Given the description of an element on the screen output the (x, y) to click on. 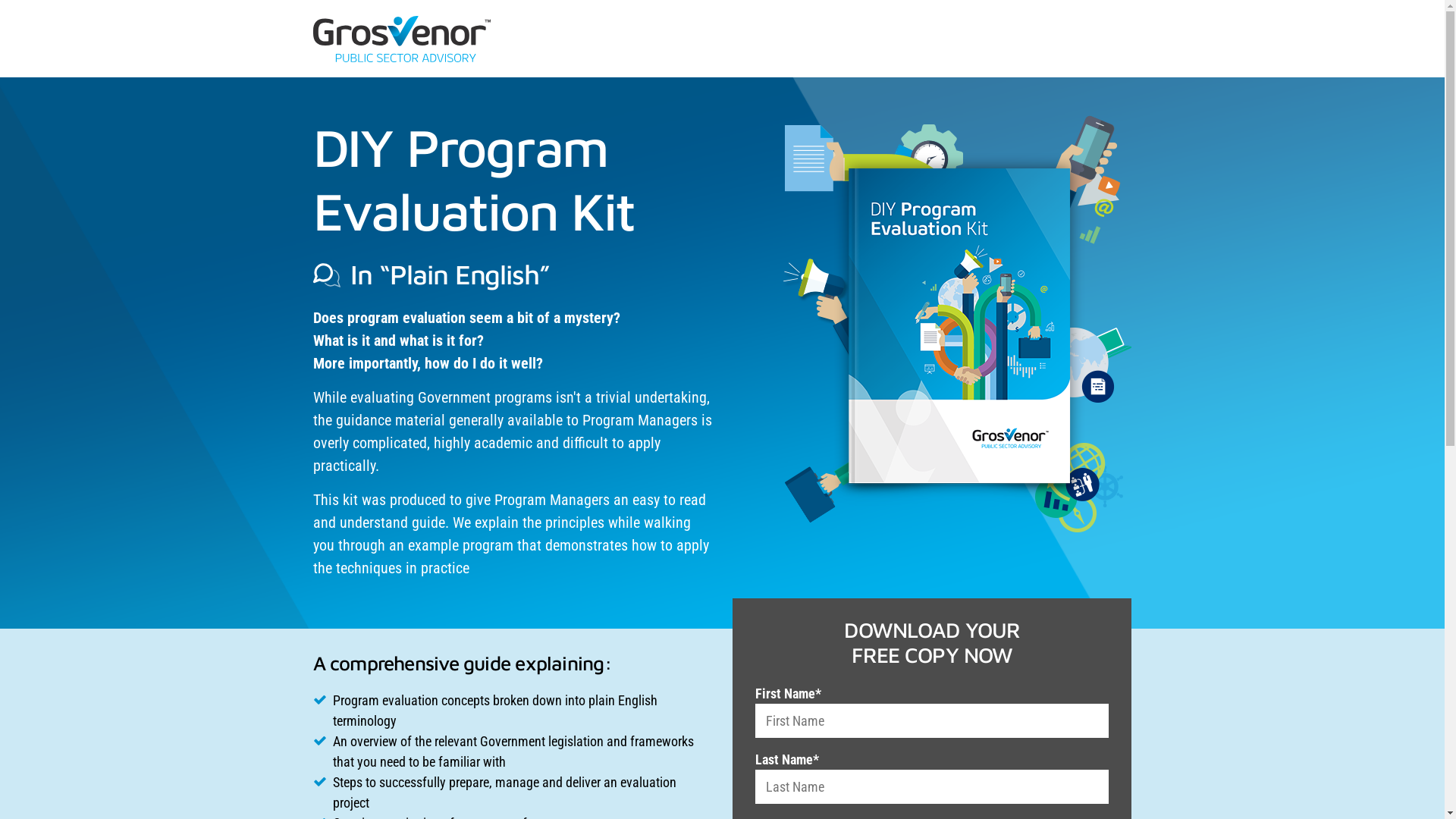
DIY-Program-Evaluation-Kit-fancy.png Element type: hover (957, 323)
